Given the description of an element on the screen output the (x, y) to click on. 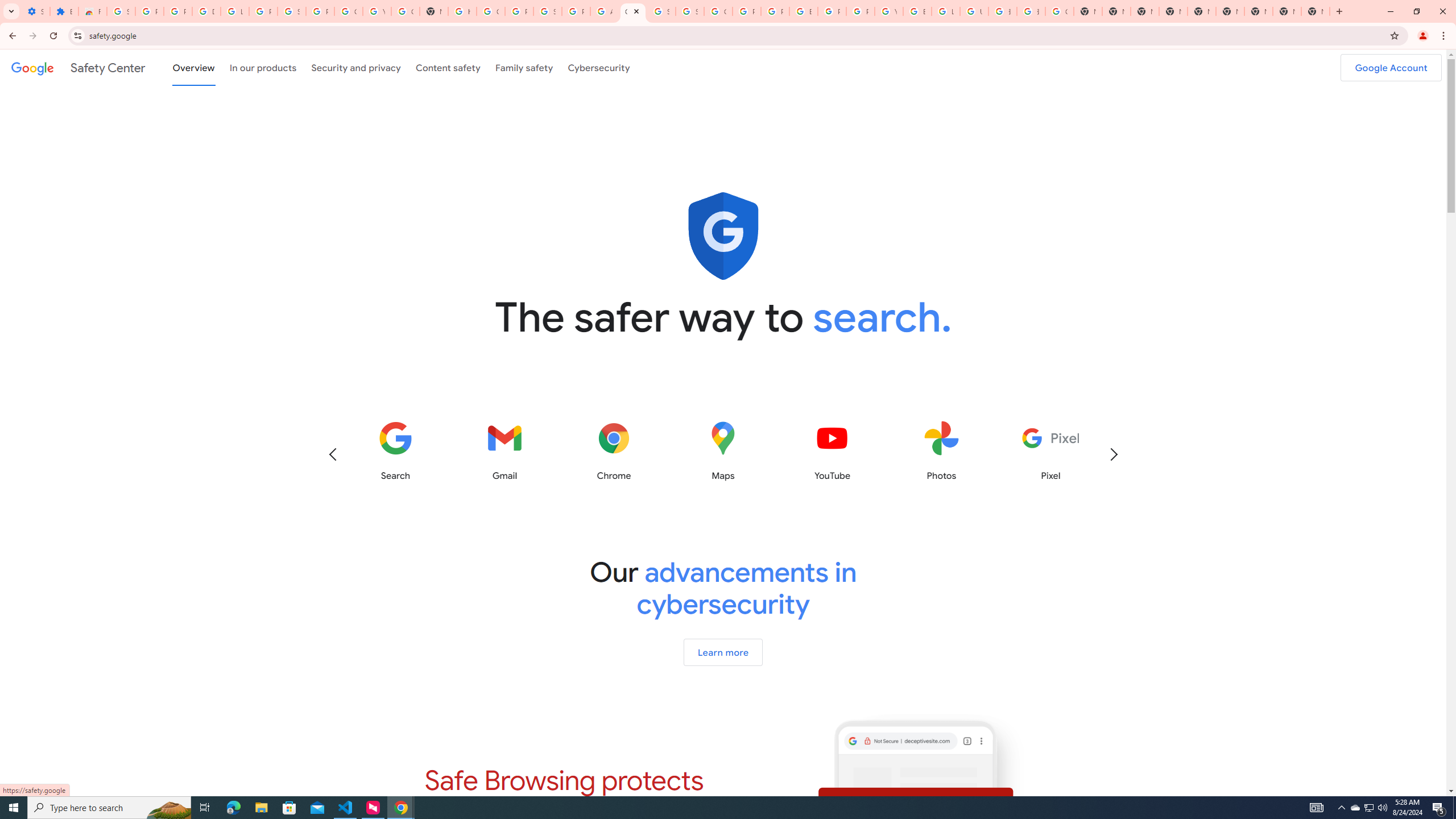
Privacy Help Center - Policies Help (746, 11)
Security and privacy (356, 67)
Next (1112, 453)
Sign in - Google Accounts (291, 11)
Sign in - Google Accounts (690, 11)
